Given the description of an element on the screen output the (x, y) to click on. 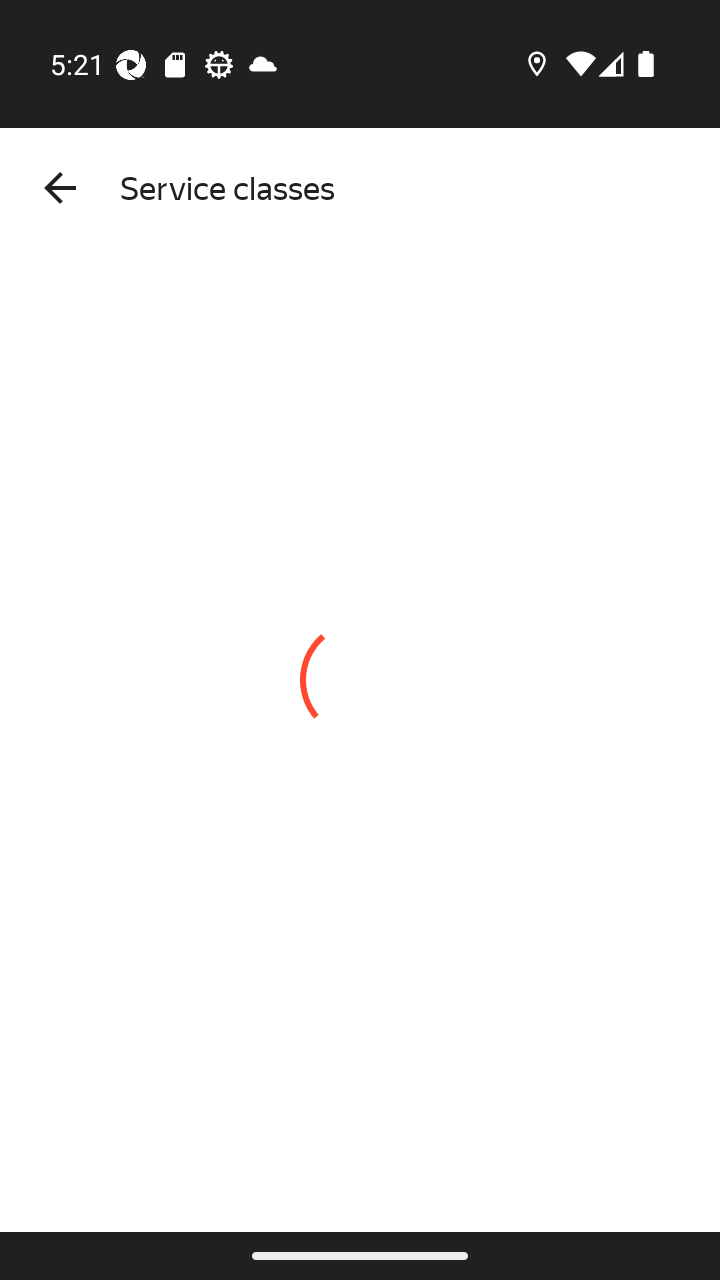
Back Service classes (360, 188)
Back (60, 188)
